Given the description of an element on the screen output the (x, y) to click on. 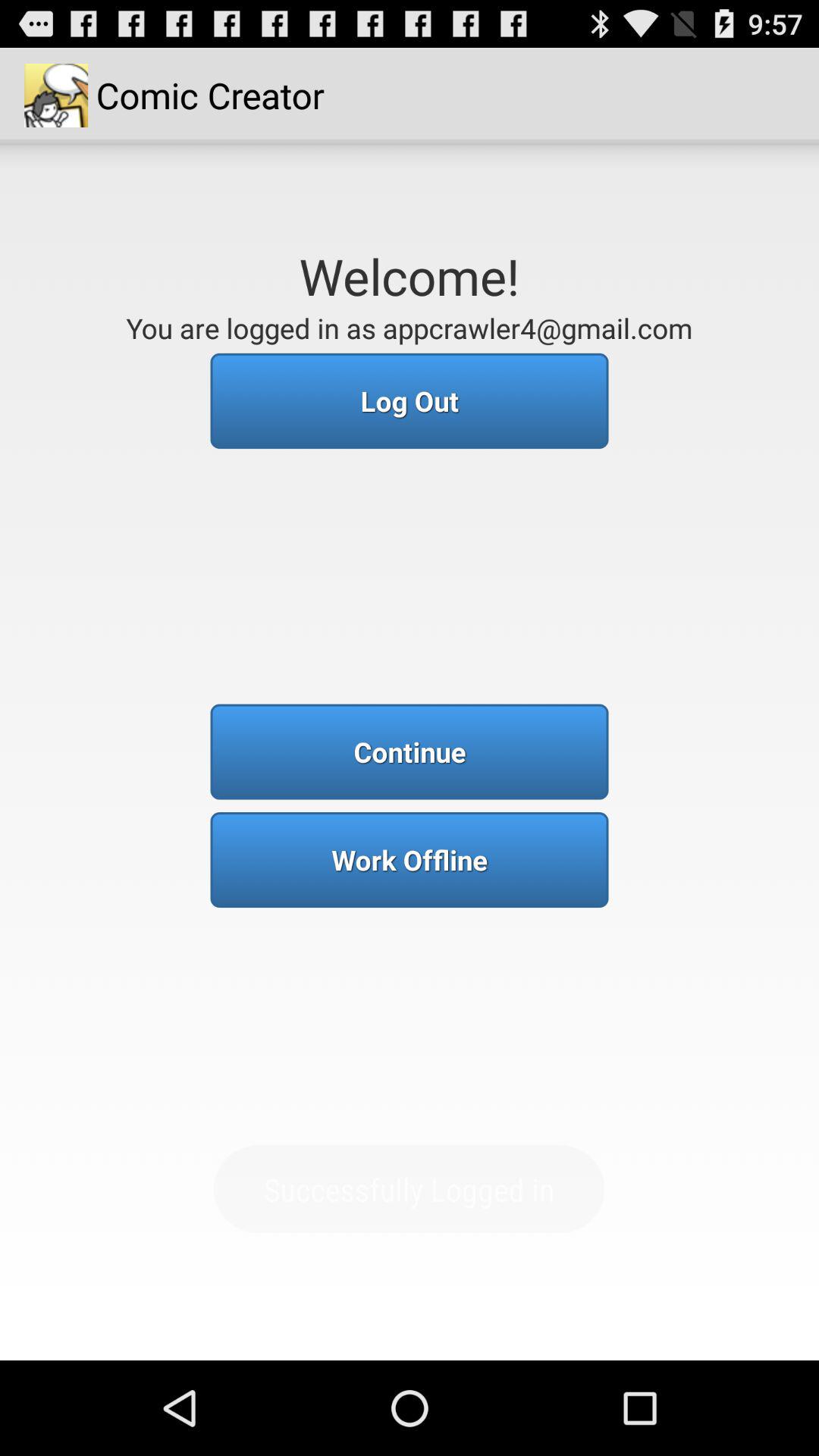
flip until the work offline button (409, 859)
